Given the description of an element on the screen output the (x, y) to click on. 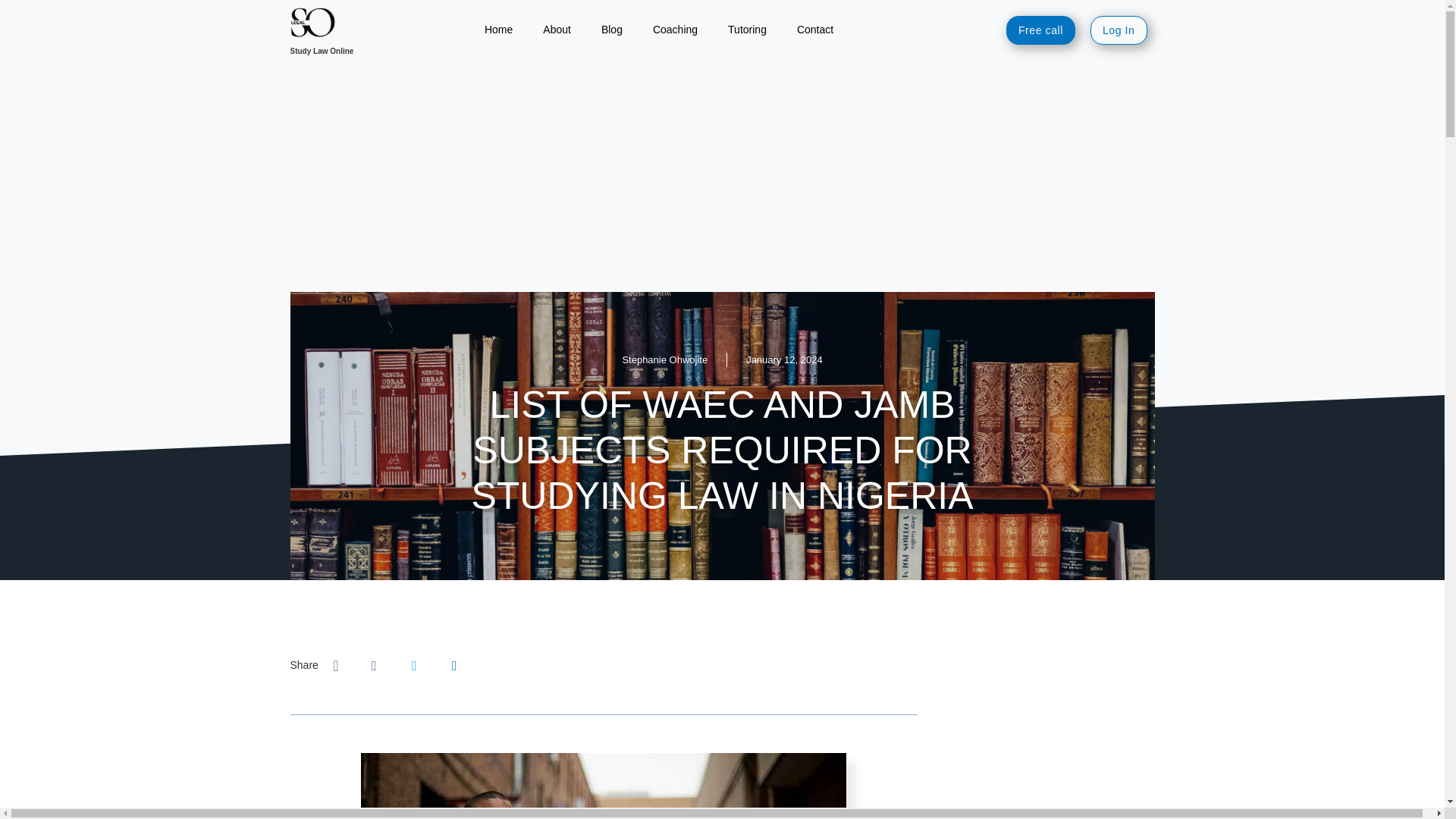
Log In (1118, 30)
Blog (611, 29)
Study Law Online (321, 50)
Coaching (675, 29)
About (556, 29)
Stephanie Ohwojite (664, 359)
Tutoring (747, 29)
January 12, 2024 (783, 359)
Free call (1040, 30)
Home (497, 29)
Contact (814, 29)
